Given the description of an element on the screen output the (x, y) to click on. 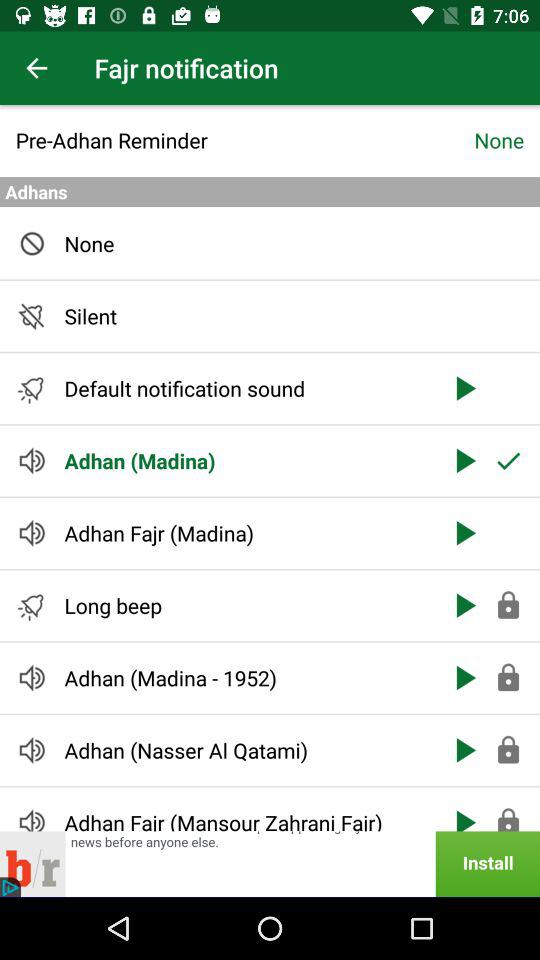
click icon above adhan fajr mansour item (245, 750)
